Given the description of an element on the screen output the (x, y) to click on. 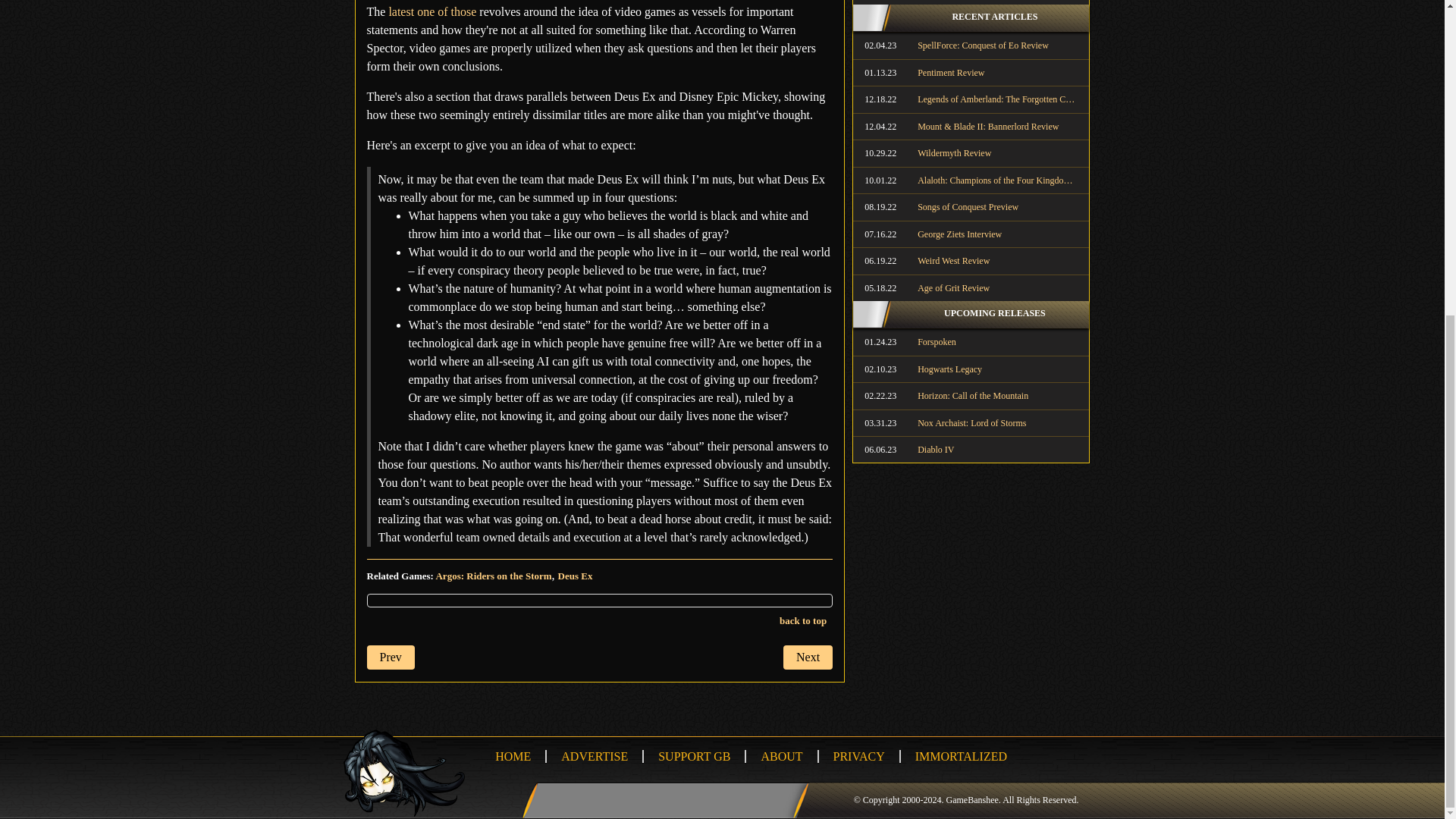
Forspoken (970, 341)
Nox Archaist: Lord of Storms (970, 422)
Songs of Conquest Preview (970, 206)
George Ziets Interview (970, 233)
Horizon: Call of the Mountain (970, 395)
Age of Grit Review (970, 287)
Alaloth: Champions of the Four Kingdoms Preview (970, 180)
Weird West Review (970, 260)
Hogwarts Legacy (970, 368)
Pentiment Review (970, 72)
SpellForce: Conquest of Eo Review (970, 45)
Legends of Amberland: The Forgotten Crown Review (970, 99)
Wildermyth Review (970, 152)
